Given the description of an element on the screen output the (x, y) to click on. 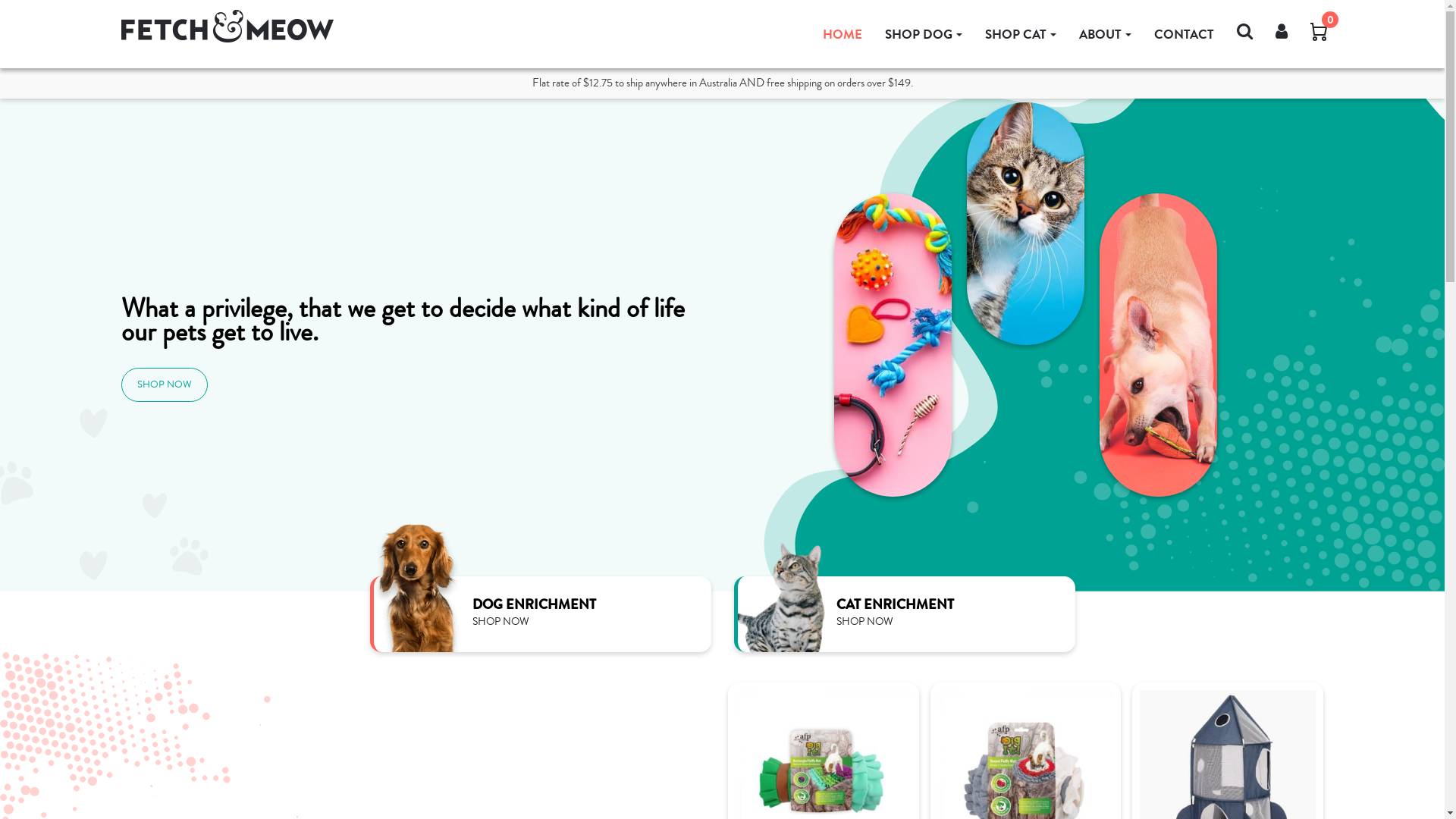
0 Element type: text (1318, 34)
SHOP NOW Element type: text (164, 384)
HOME Element type: text (842, 34)
ABOUT Element type: text (1104, 34)
SHOP DOG Element type: text (923, 34)
SHOP CAT Element type: text (1020, 34)
CAT ENRICHMENT
SHOP NOW Element type: text (904, 614)
DOG ENRICHMENT
SHOP NOW Element type: text (540, 614)
CONTACT Element type: text (1183, 34)
